Given the description of an element on the screen output the (x, y) to click on. 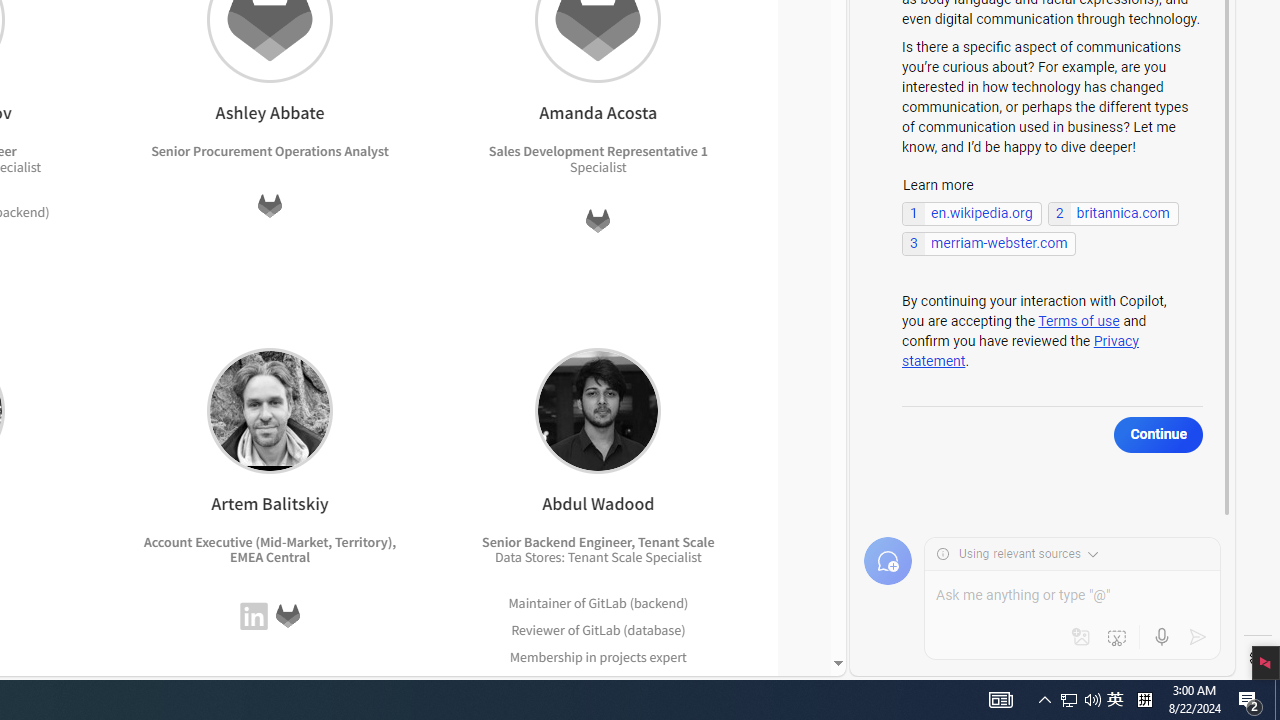
Artem Balitskiy (269, 410)
Artem Balitskiy (269, 409)
Abdul Wadood (598, 410)
Maintainer (540, 602)
Sales Development Representative 1 (597, 151)
Membership in groups (578, 682)
Senior Procurement Operations Analyst (270, 151)
GitLab (601, 629)
Membership in projects expert (598, 655)
Account Executive (Mid-Market, Territory), EMEA Central (269, 549)
Membership in projects (577, 656)
Abdul Wadood (598, 409)
expert (664, 682)
GitLab (287, 616)
